Given the description of an element on the screen output the (x, y) to click on. 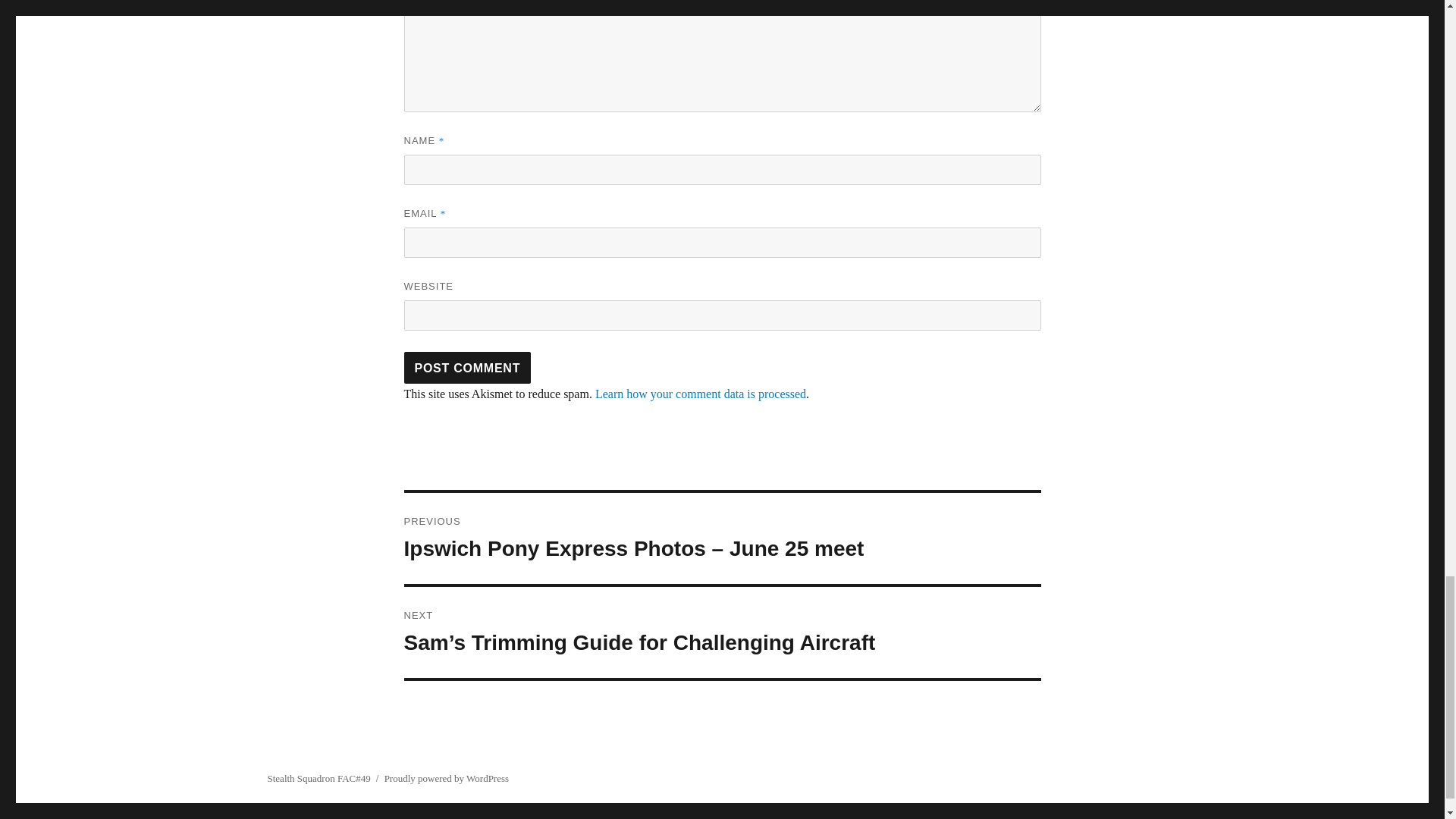
Post Comment (467, 368)
Post Comment (467, 368)
Learn how your comment data is processed (700, 393)
